Given the description of an element on the screen output the (x, y) to click on. 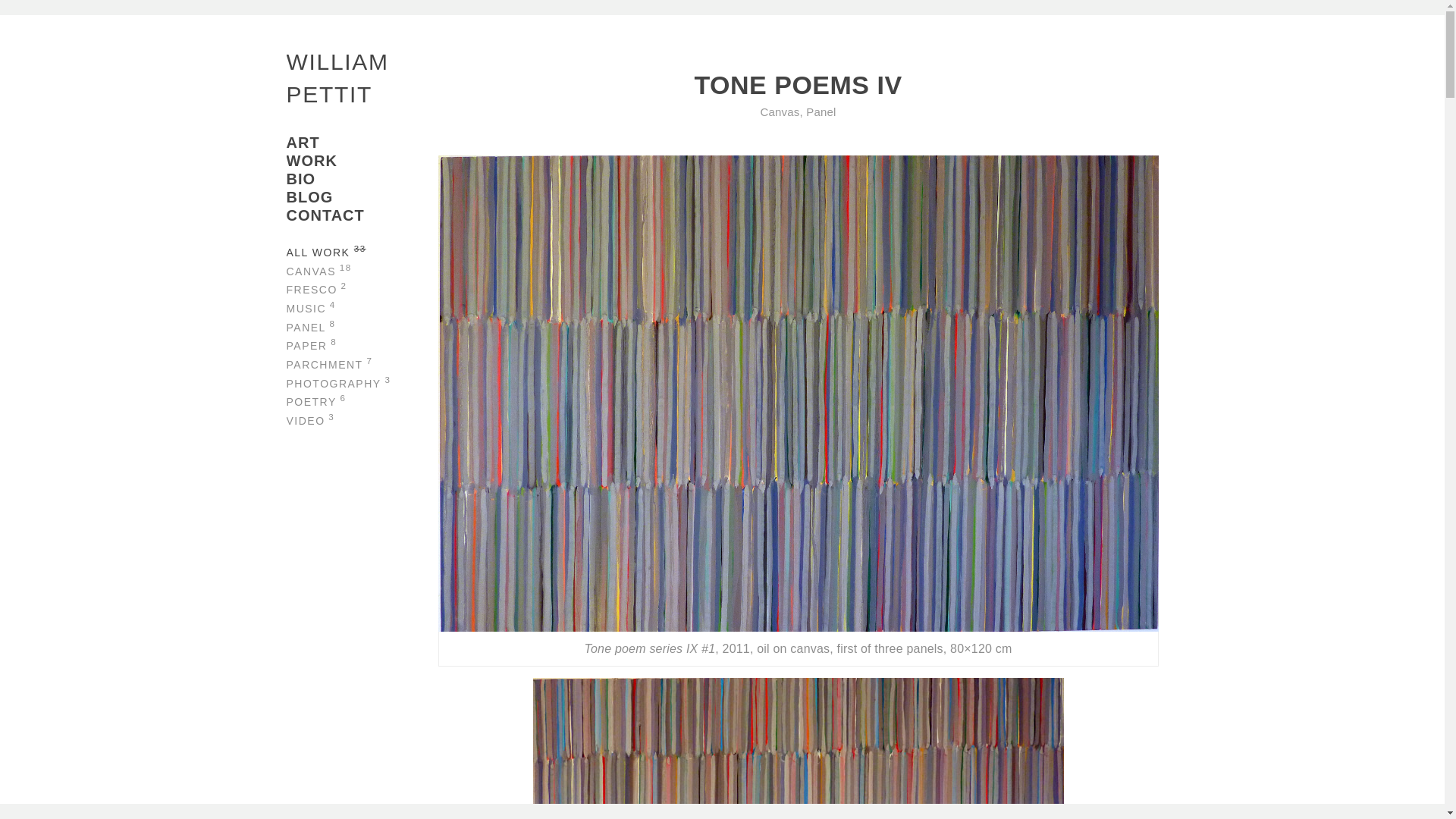
William Pettit (339, 77)
CANVAS 18 (362, 269)
WORK (362, 160)
PHOTOGRAPHY 3 (362, 381)
ALL WORK 33 (362, 250)
PANEL 8 (362, 325)
MUSIC 4 (362, 306)
VIDEO 3 (362, 418)
WILLIAM PETTIT (339, 77)
Panel (820, 111)
FRESCO 2 (362, 287)
CONTACT (362, 215)
POETRY 6 (362, 399)
BLOG (362, 197)
PAPER 8 (362, 343)
